Given the description of an element on the screen output the (x, y) to click on. 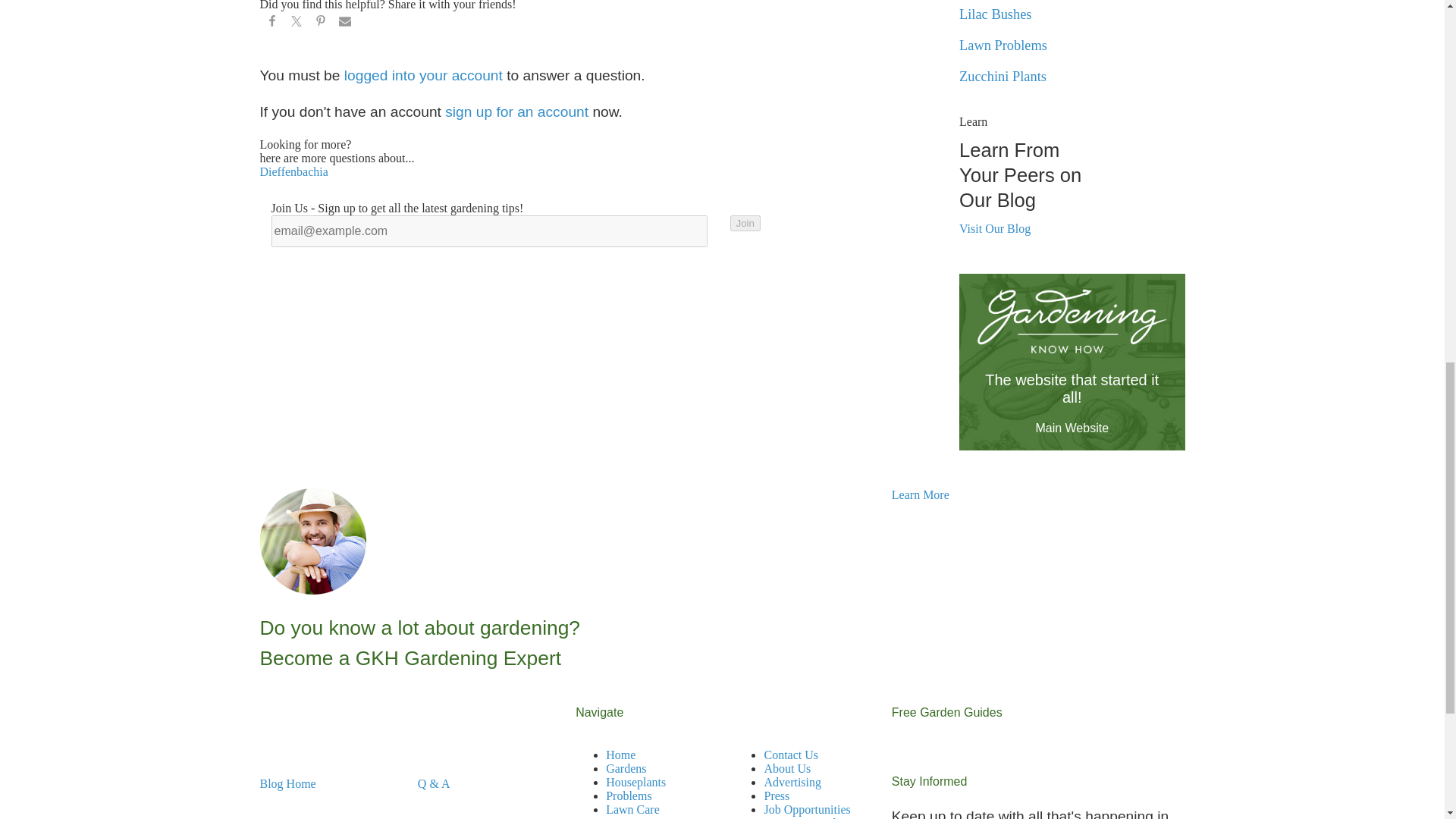
Share on Facebook (271, 23)
Share on Twitter (295, 23)
Join (744, 222)
logged into your account (422, 75)
Dieffenbachia (293, 171)
Share via Email (343, 23)
Share on Pinterest (319, 23)
sign up for an account (516, 111)
